Given the description of an element on the screen output the (x, y) to click on. 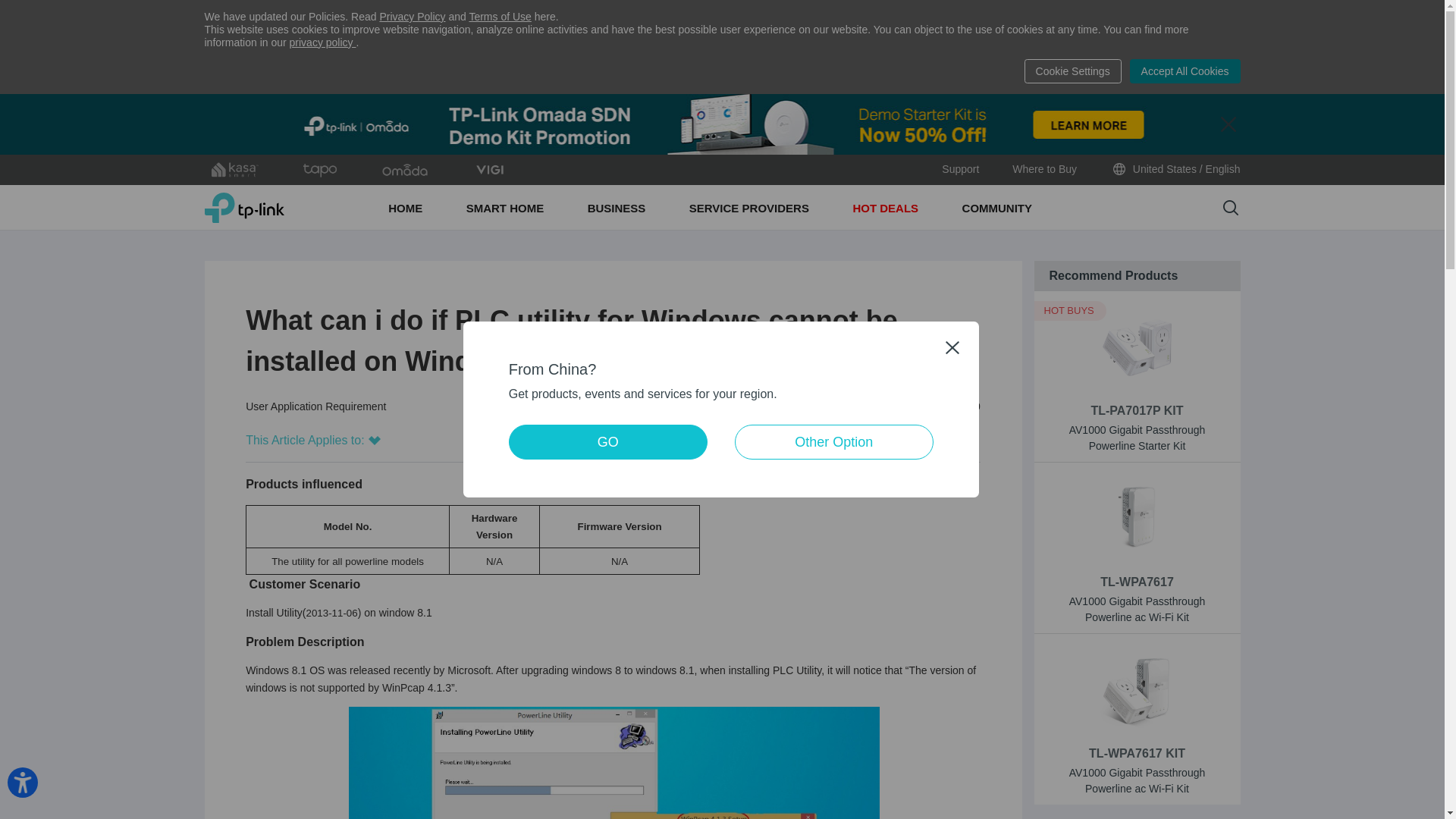
Support (960, 169)
Where to Buy (1044, 169)
Search (1230, 207)
TP-Link, Reliably Smart (244, 207)
Terms of Use (499, 16)
privacy policy (322, 42)
